Given the description of an element on the screen output the (x, y) to click on. 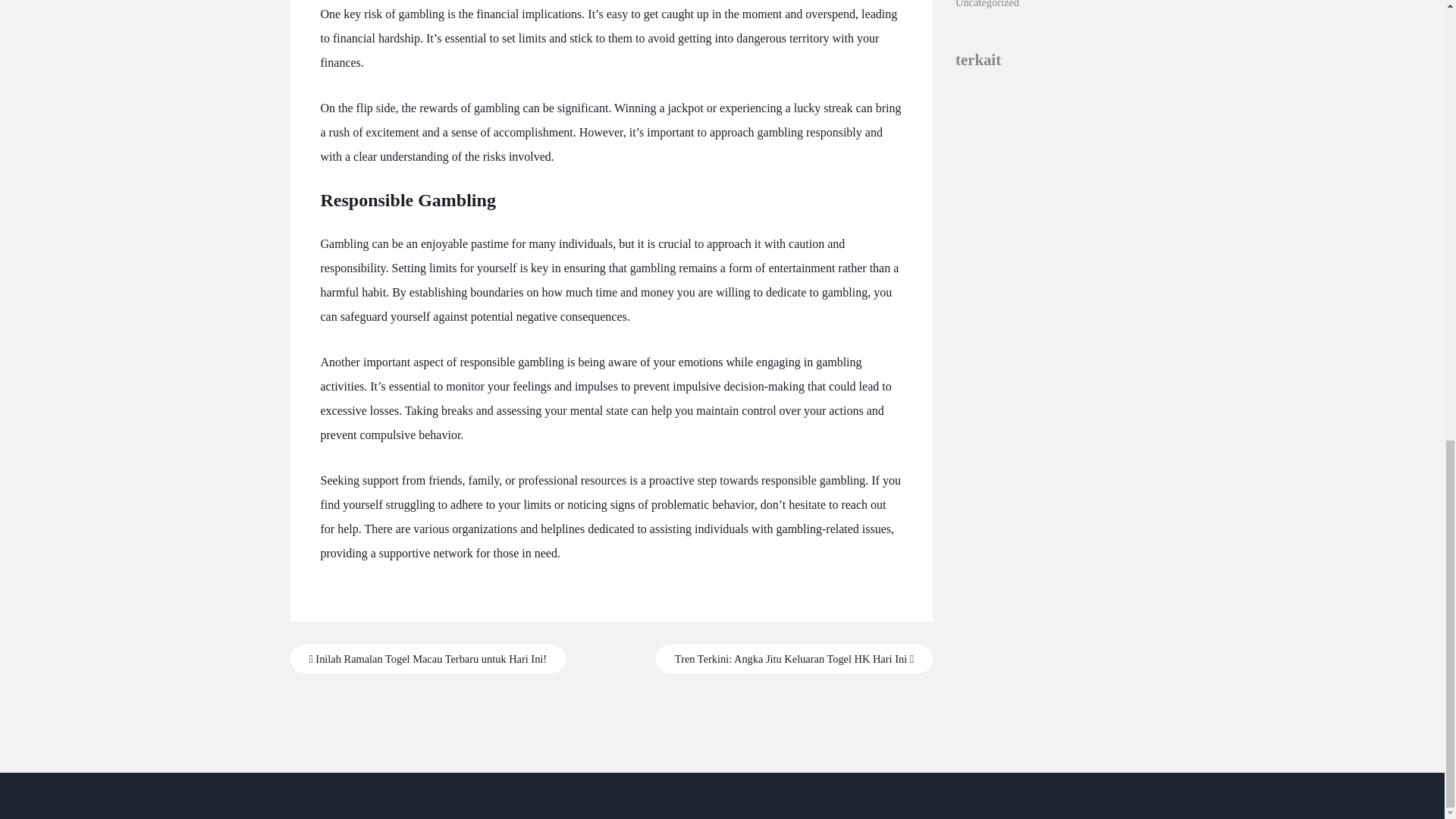
Tren Terkini: Angka Jitu Keluaran Togel HK Hari Ini (794, 659)
Inilah Ramalan Togel Macau Terbaru untuk Hari Ini! (427, 659)
Uncategorized (987, 4)
